Given the description of an element on the screen output the (x, y) to click on. 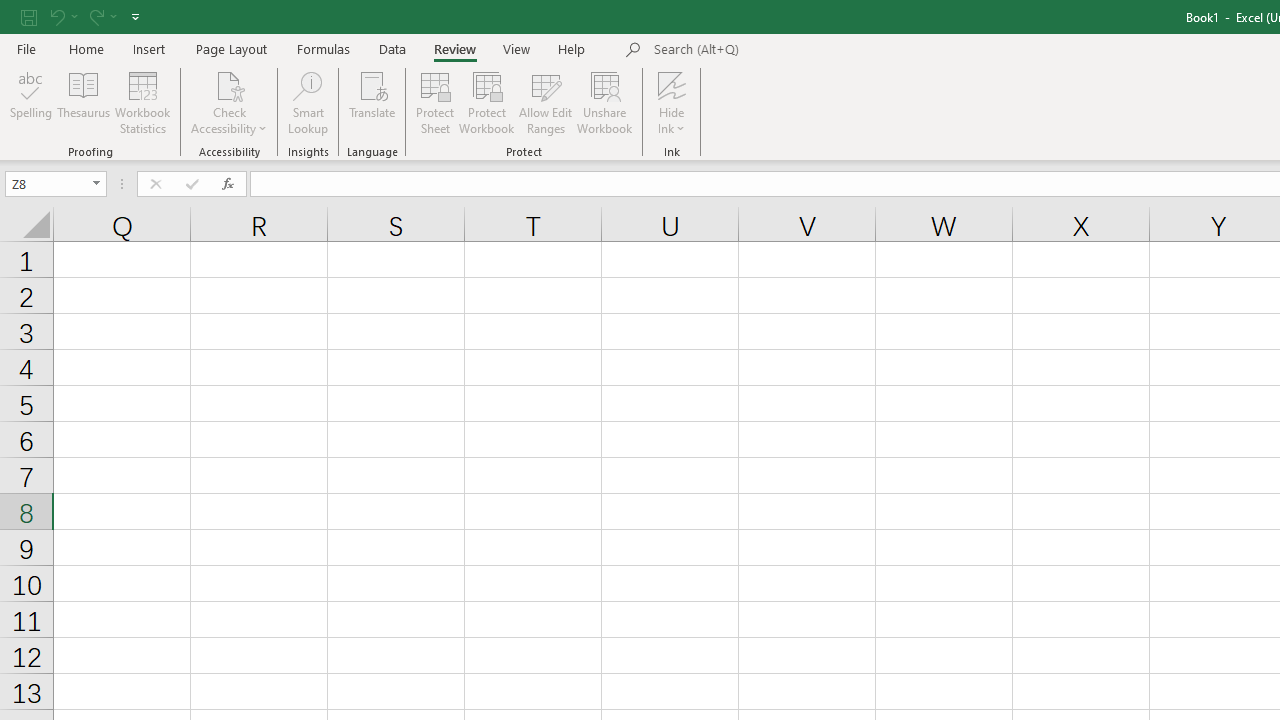
Spelling... (31, 102)
Smart Lookup (308, 102)
